Given the description of an element on the screen output the (x, y) to click on. 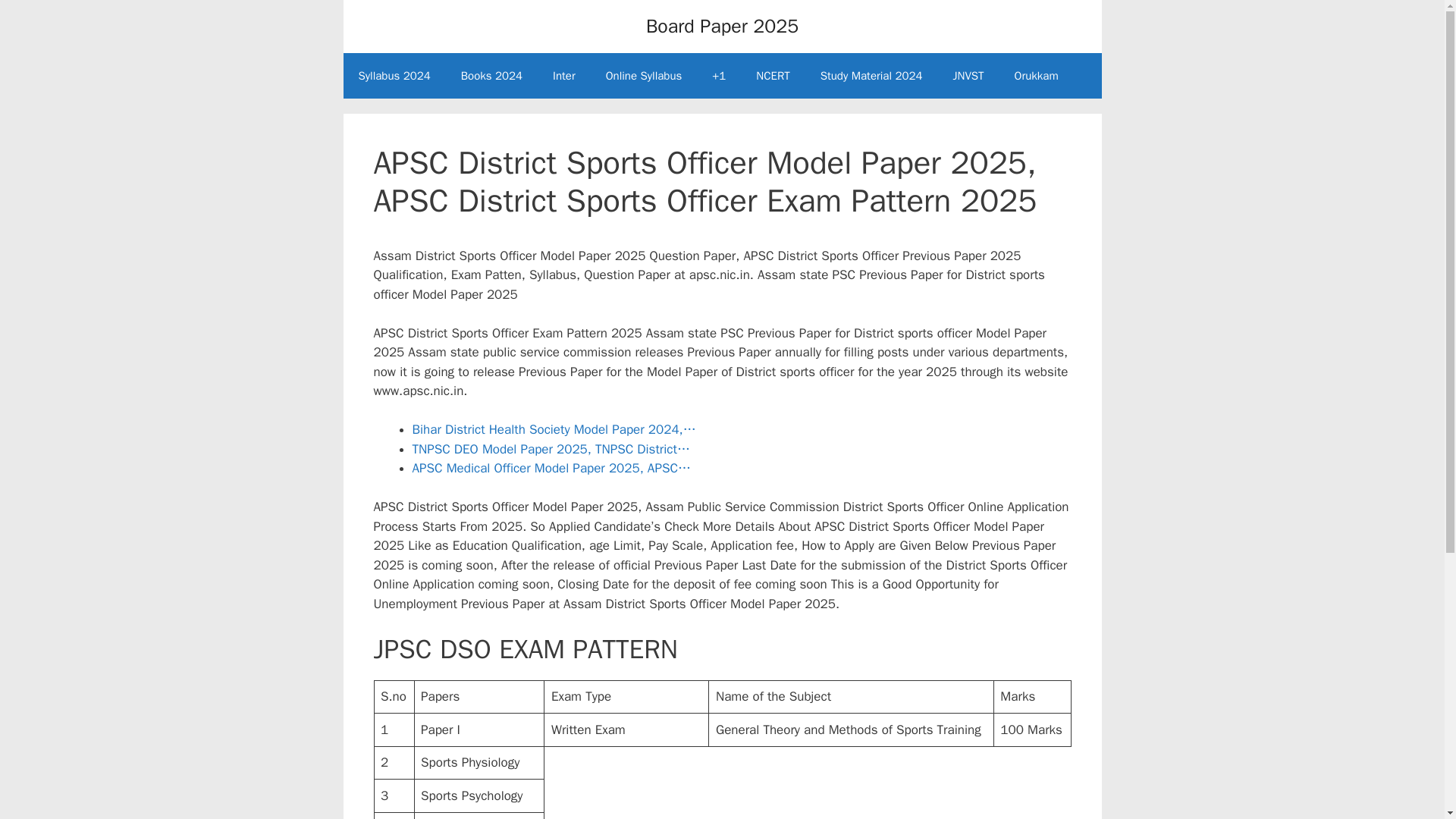
JNVST (967, 75)
Inter (564, 75)
Books 2024 (491, 75)
Board Paper 2025 (721, 25)
Syllabus 2024 (393, 75)
NCERT (773, 75)
Online Syllabus (644, 75)
Study Material 2024 (871, 75)
Orukkam (1036, 75)
